Given the description of an element on the screen output the (x, y) to click on. 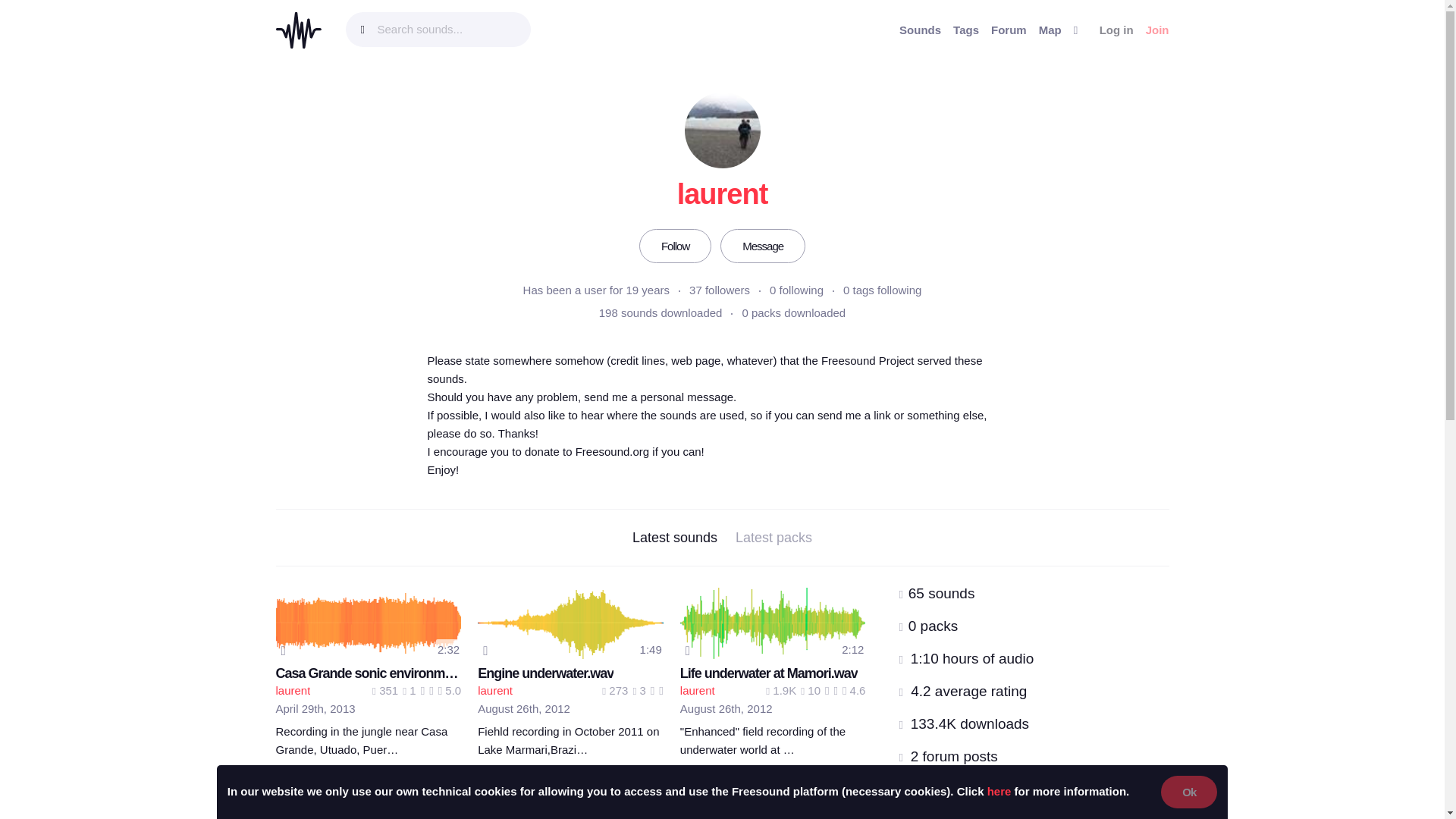
Log in (1116, 29)
Forum (1008, 30)
here (999, 790)
Username: laurent (494, 689)
0 following (797, 289)
Username: laurent (293, 689)
Sounds (919, 30)
198 sounds downloaded (660, 312)
Message (762, 245)
37 followers (718, 289)
laurent (293, 689)
0 packs downloaded (793, 312)
Join (1157, 29)
Engine underwater.wav (544, 672)
351 downloads (384, 689)
